Given the description of an element on the screen output the (x, y) to click on. 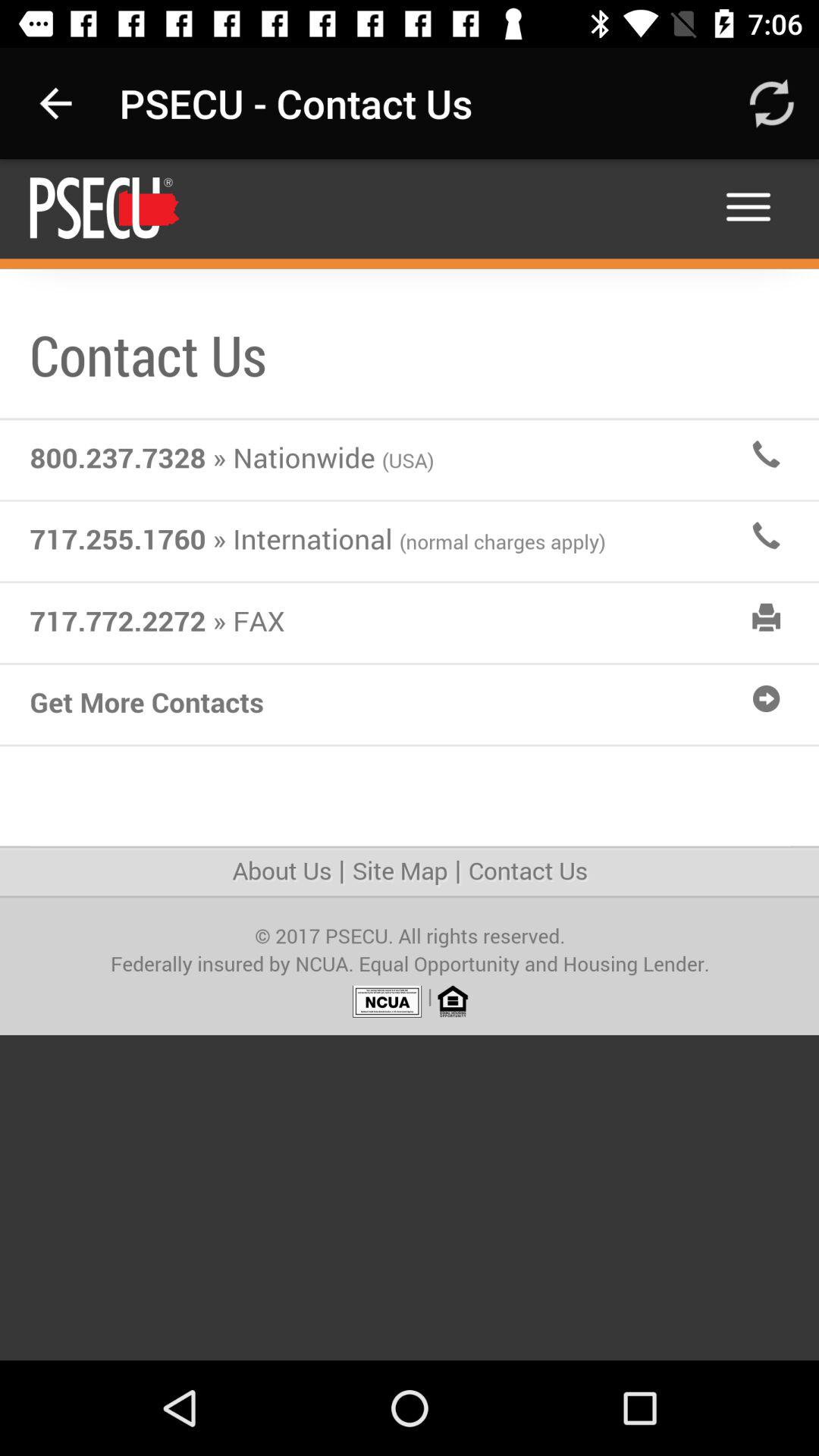
psecu contact us page (409, 759)
